Given the description of an element on the screen output the (x, y) to click on. 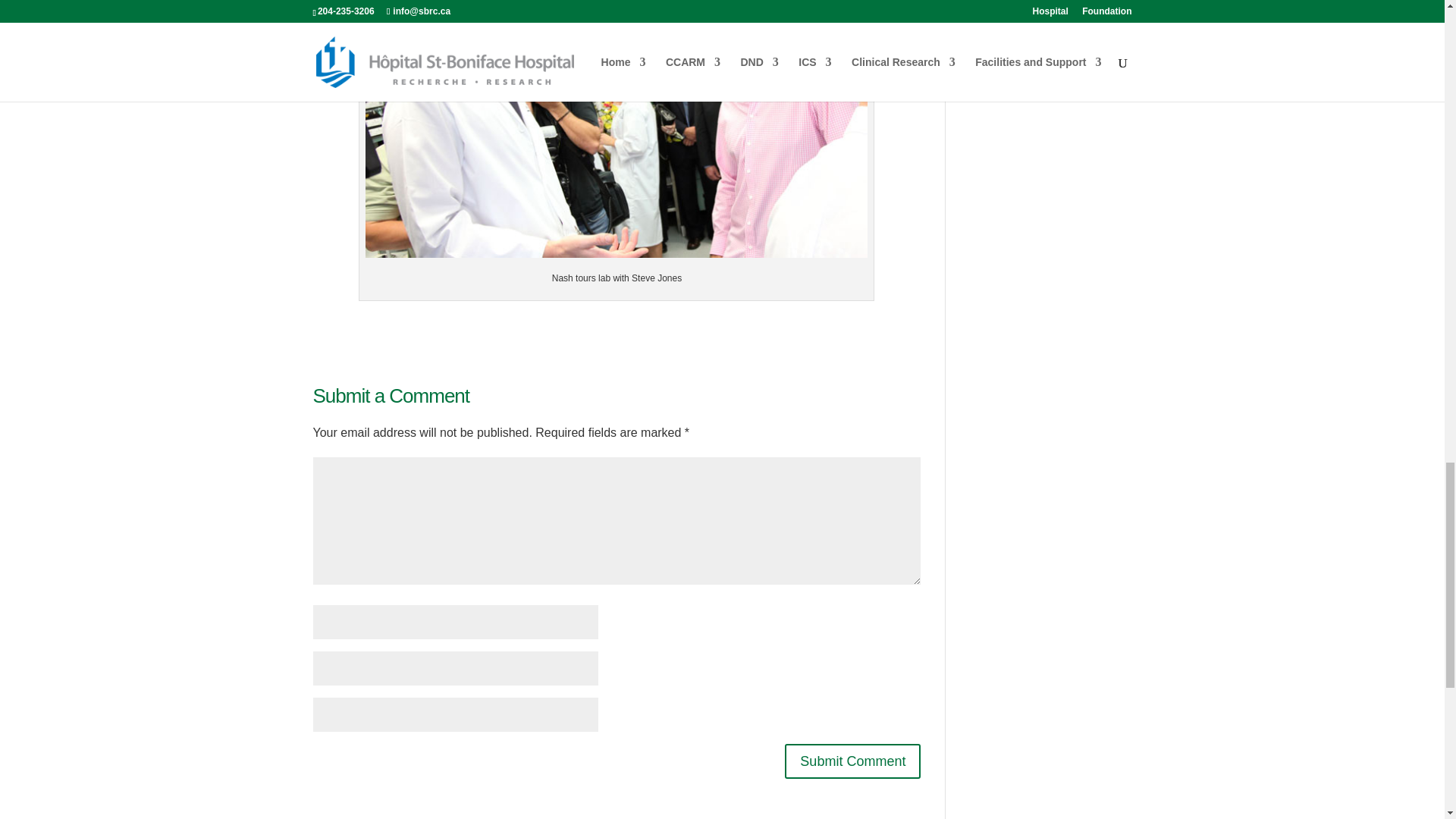
Submit Comment (852, 760)
